Given the description of an element on the screen output the (x, y) to click on. 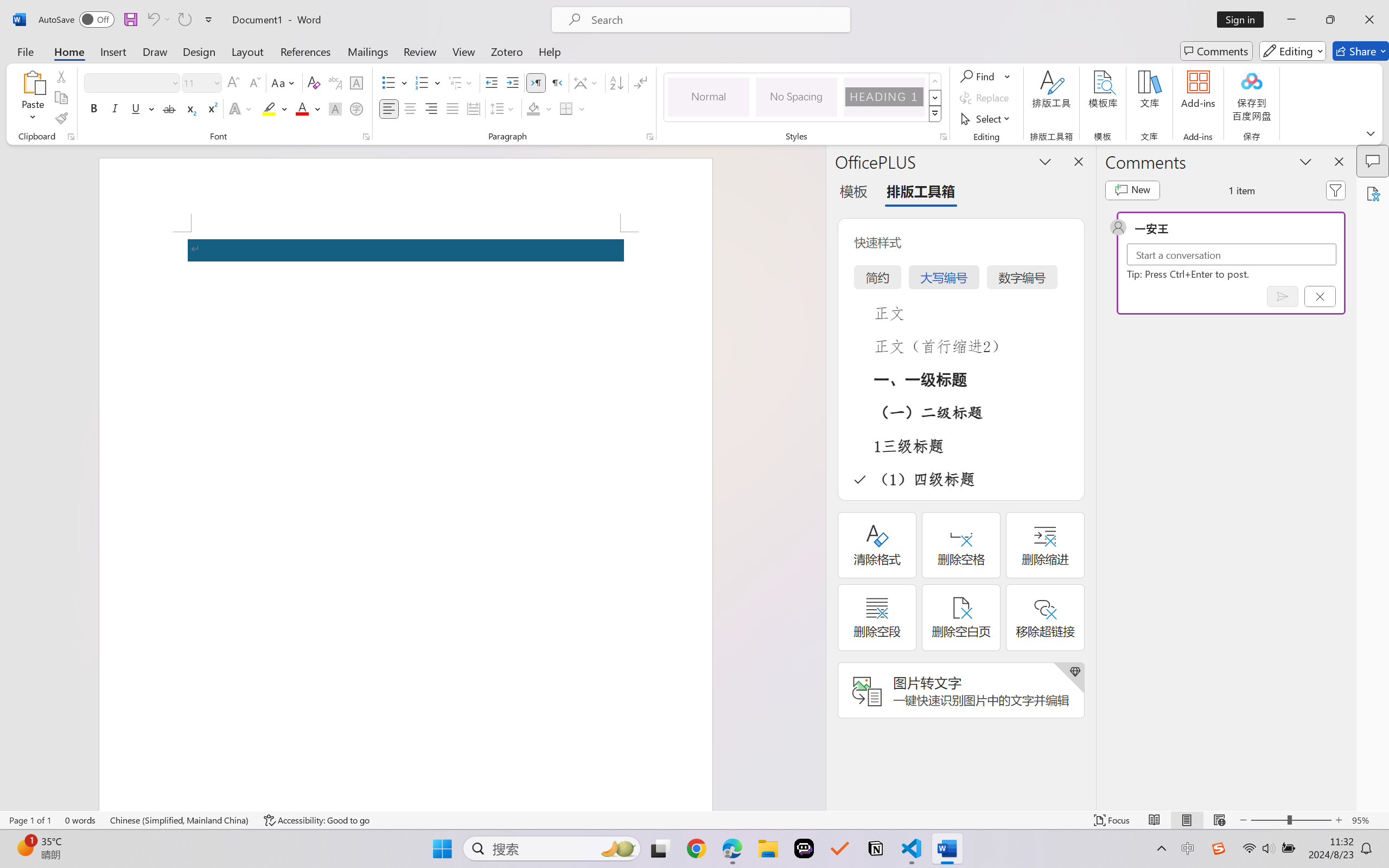
Undo Apply Quick Style Set (158, 19)
Post comment (Ctrl + Enter) (1282, 296)
